Given the description of an element on the screen output the (x, y) to click on. 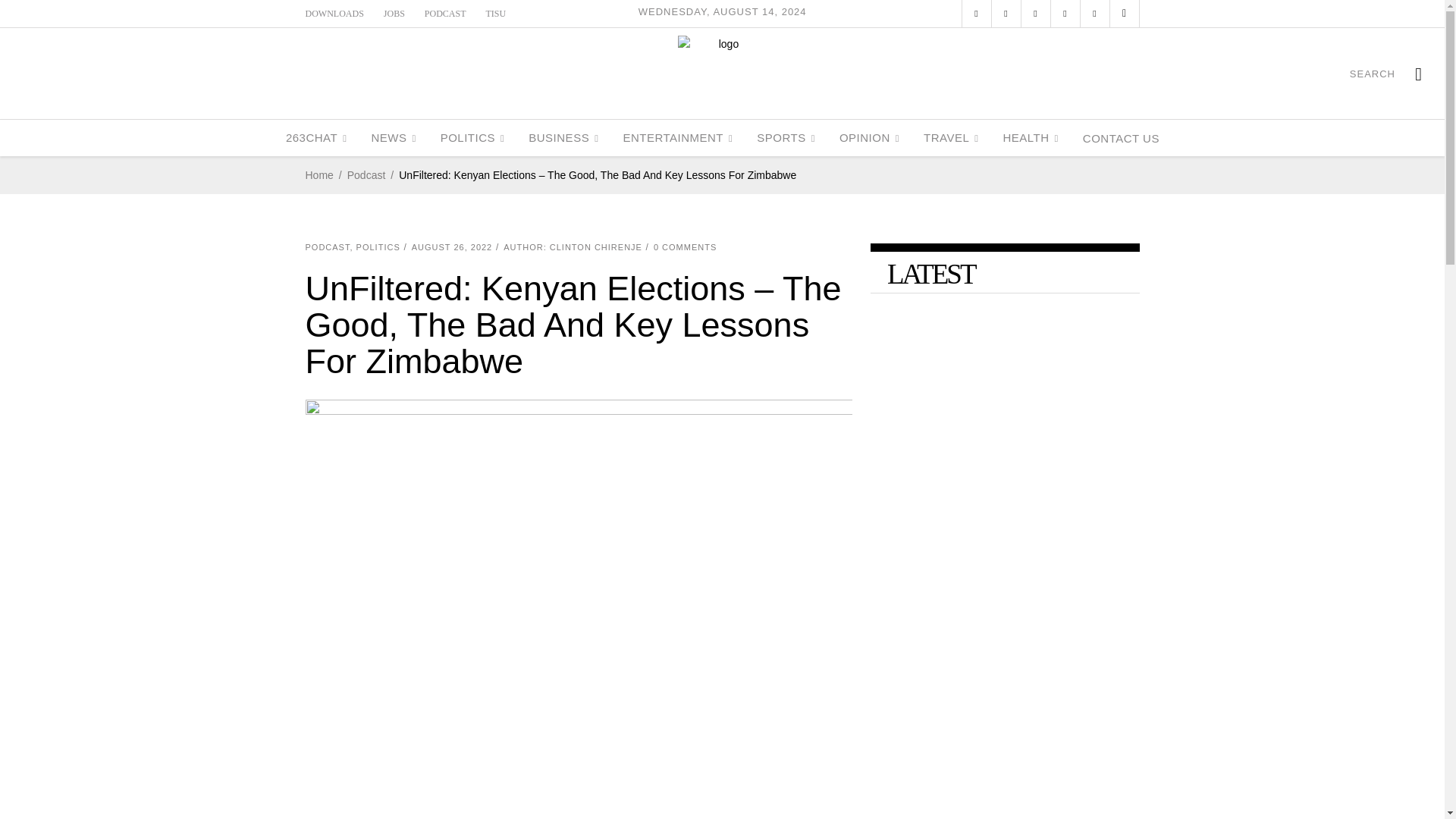
263CHAT (316, 137)
POLITICS (472, 137)
DOWNLOADS (333, 13)
PODCAST (445, 13)
TISU (496, 13)
JOBS (394, 13)
NEWS (393, 137)
